Given the description of an element on the screen output the (x, y) to click on. 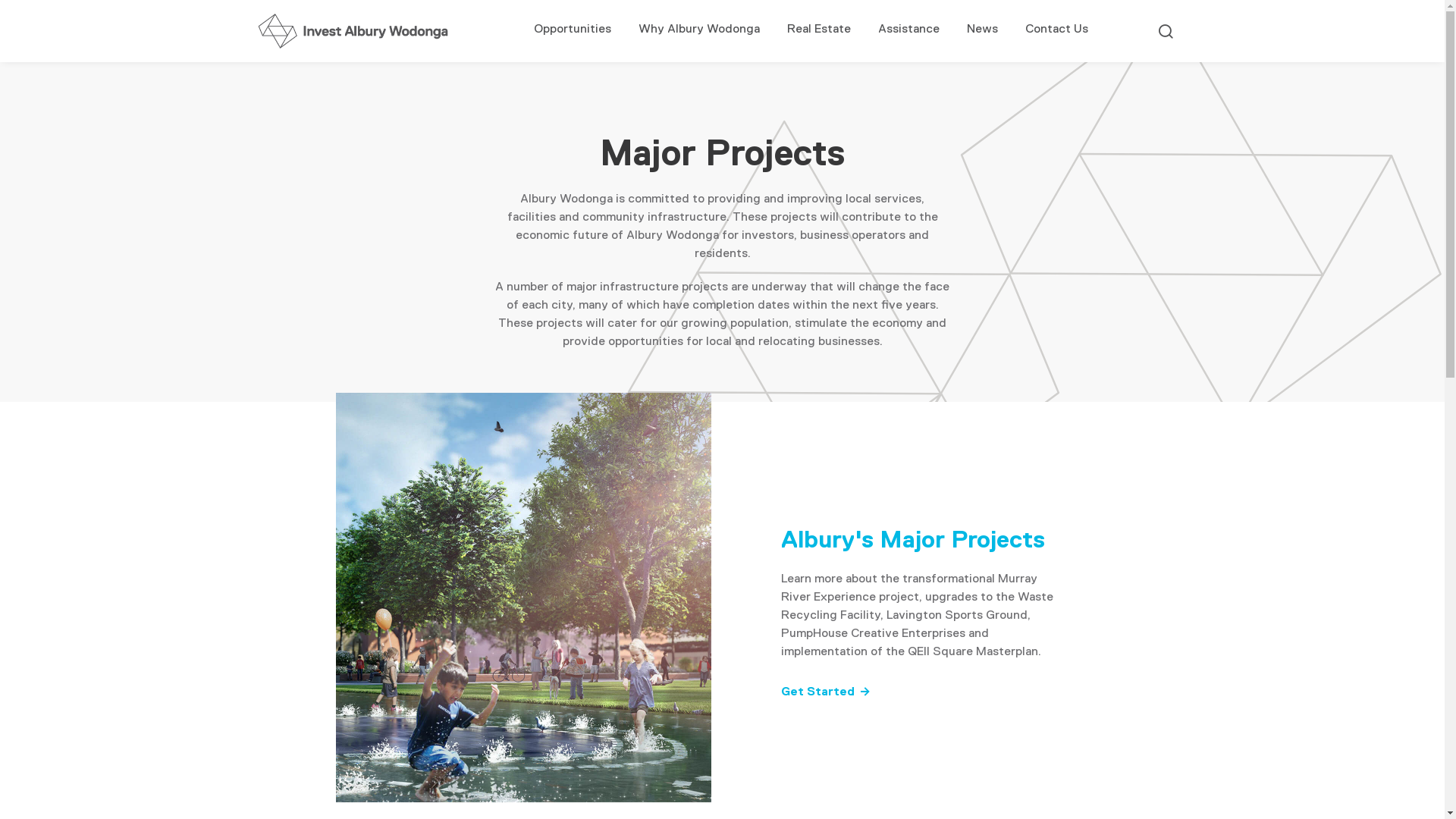
Real Estate Element type: text (818, 31)
Opportunities Element type: text (572, 31)
Contact Us Element type: text (1056, 31)
Assistance Element type: text (908, 31)
Get Started Element type: text (825, 690)
News Element type: text (981, 31)
Why Albury Wodonga Element type: text (698, 31)
Albury's Major Projects Element type: text (912, 538)
